Given the description of an element on the screen output the (x, y) to click on. 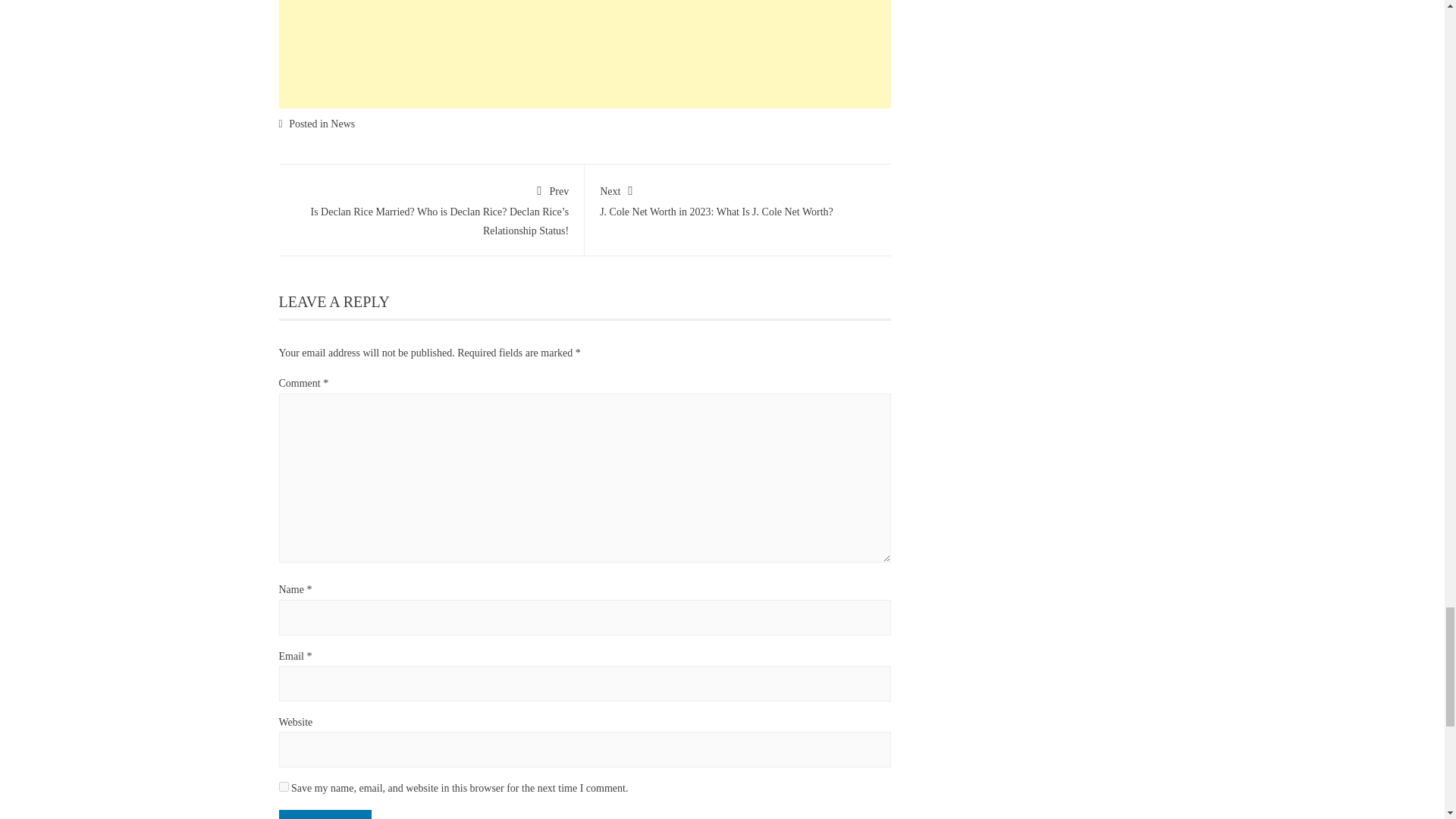
yes (283, 786)
Post Comment (325, 814)
News (342, 123)
